Given the description of an element on the screen output the (x, y) to click on. 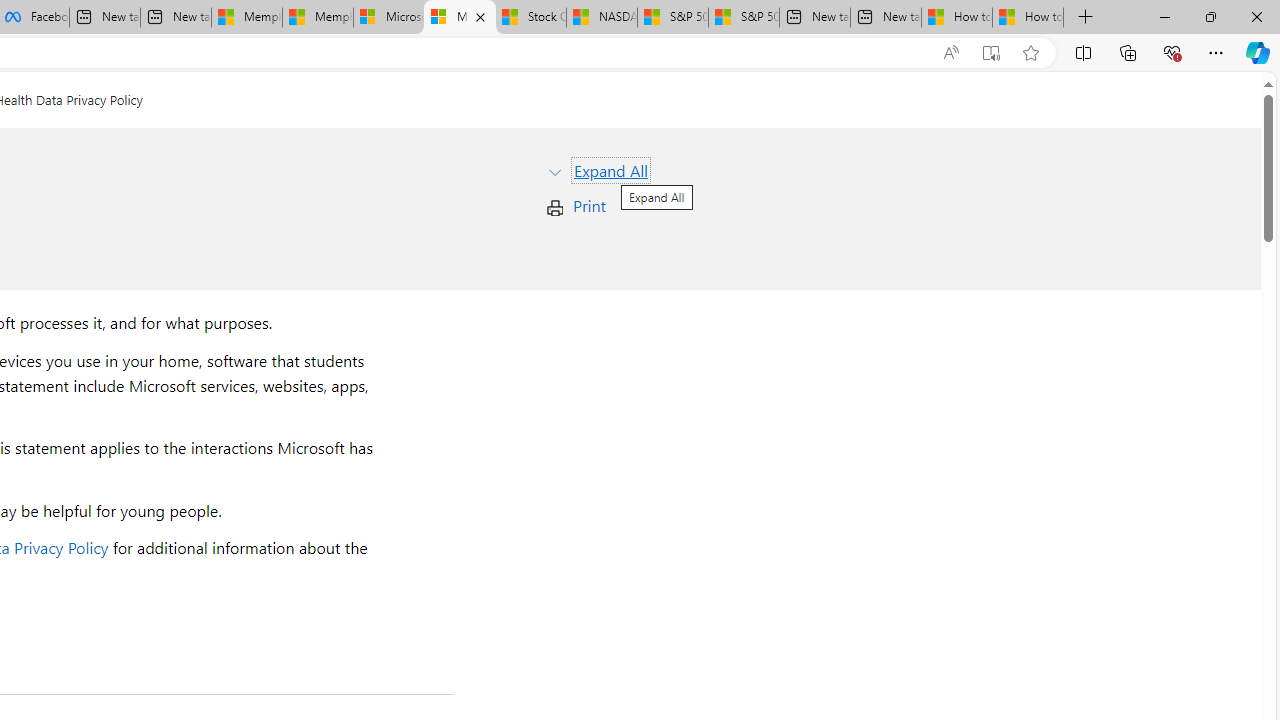
Enter Immersive Reader (F9) (991, 53)
